Given the description of an element on the screen output the (x, y) to click on. 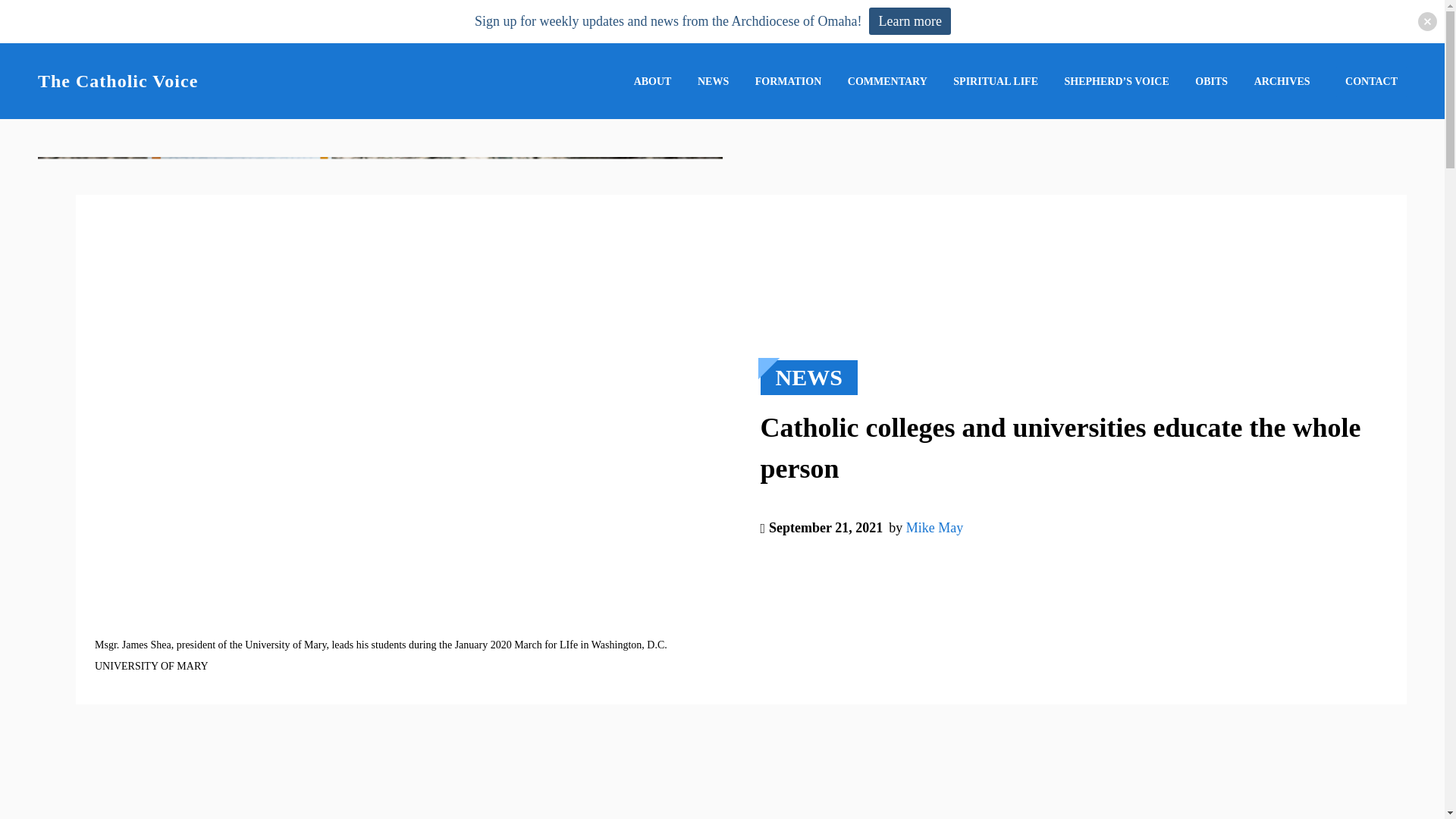
CONTACT (1371, 81)
The Catholic Voice (117, 81)
NEWS (713, 81)
ABOUT (652, 81)
ARCHIVES (1281, 81)
Mike May (934, 590)
Learn more (909, 21)
COMMENTARY (887, 81)
Posts by Mike May (934, 540)
SPIRITUAL LIFE (995, 81)
OBITS (1211, 81)
FORMATION (788, 81)
